Given the description of an element on the screen output the (x, y) to click on. 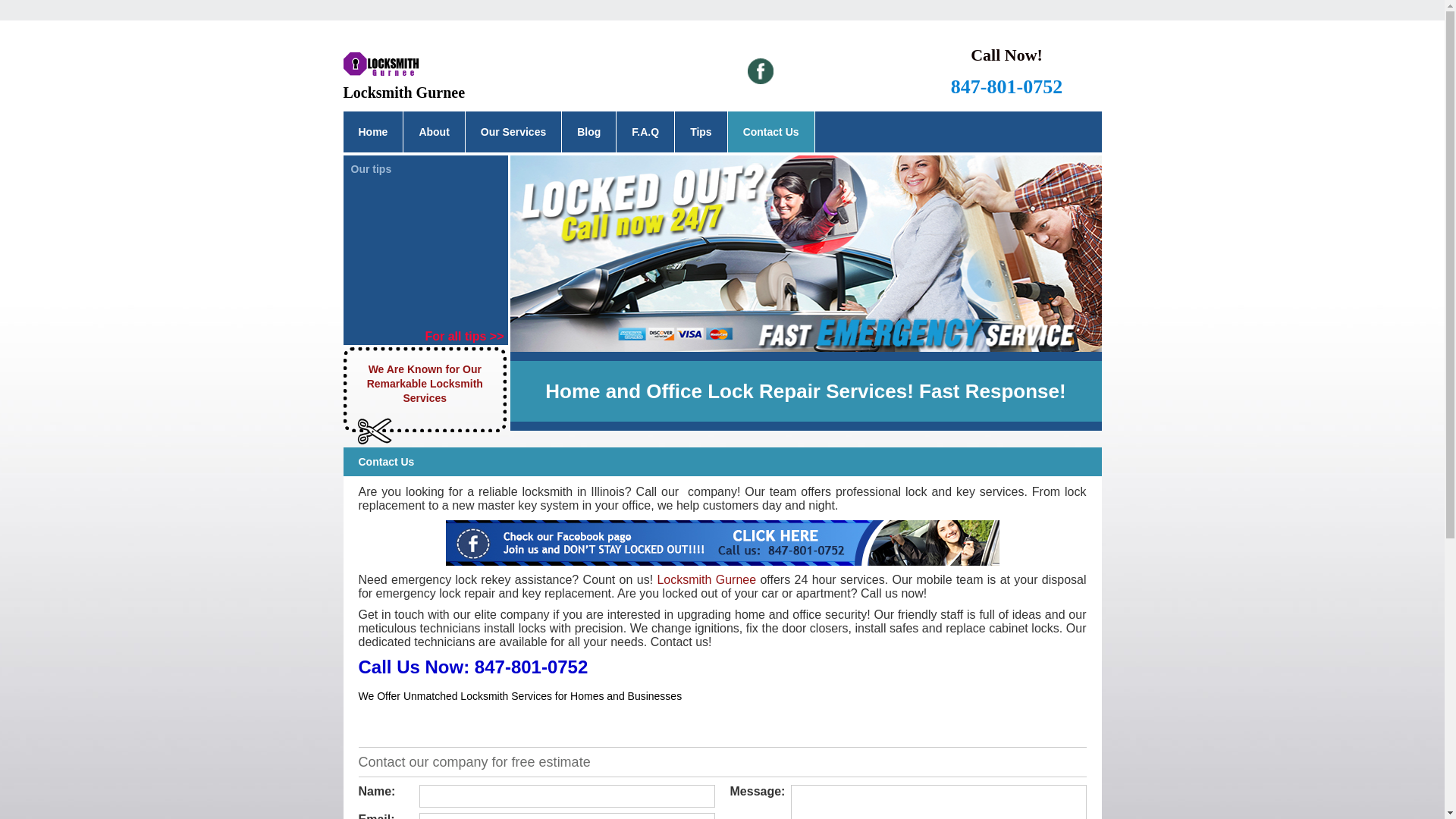
Join us on Facebook - Locksmith Gurnee Element type: hover (722, 541)
We Are Known for Our Remarkable Locksmith Services Element type: text (425, 389)
Locksmith Gurnee Element type: text (706, 579)
Locksmith Gurnee, IL | 847-801-0752 | Professional Services Element type: hover (805, 253)
Our Services Element type: text (513, 131)
Tips Element type: text (700, 131)
Home Element type: text (372, 131)
About Element type: text (433, 131)
Contact Us Element type: text (771, 131)
F.A.Q Element type: text (645, 131)
Join us on Facebook - Locksmith Gurnee Element type: hover (722, 542)
Facebook Element type: text (760, 71)
Blog Element type: text (588, 131)
For all tips >> Element type: text (465, 336)
